Given the description of an element on the screen output the (x, y) to click on. 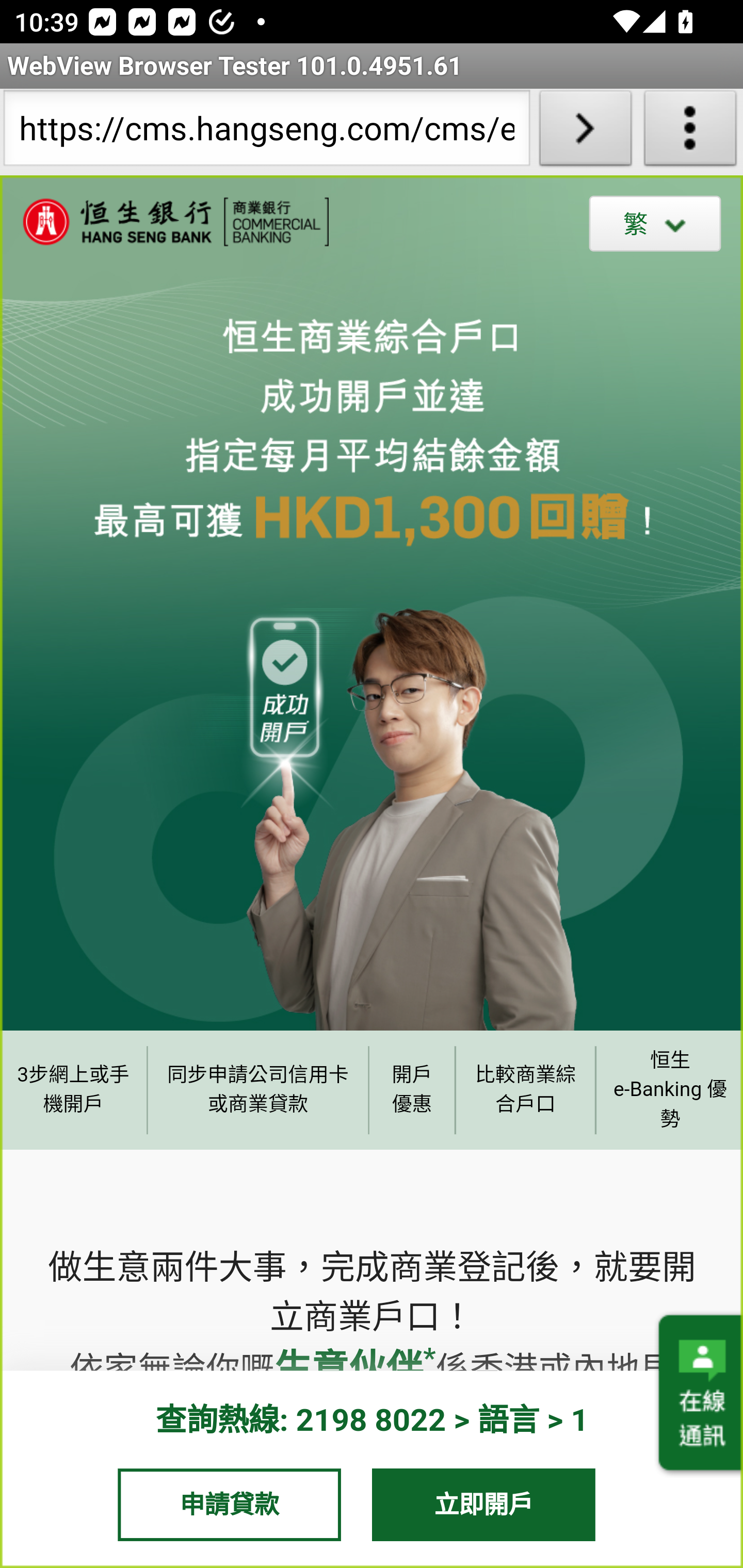
Load URL (585, 132)
About WebView (690, 132)
home (164, 222)
繁  繁    (655, 223)
恒生e‑Banking 優勢 (669, 1089)
3步網上或手機開戶 (73, 1089)
同步申請公司信用卡或商業貸款 (257, 1089)
開戶優惠 (411, 1089)
比較商業綜合戶口 (525, 1089)
申請貸款 (229, 1504)
立即開戶 (484, 1504)
